Given the description of an element on the screen output the (x, y) to click on. 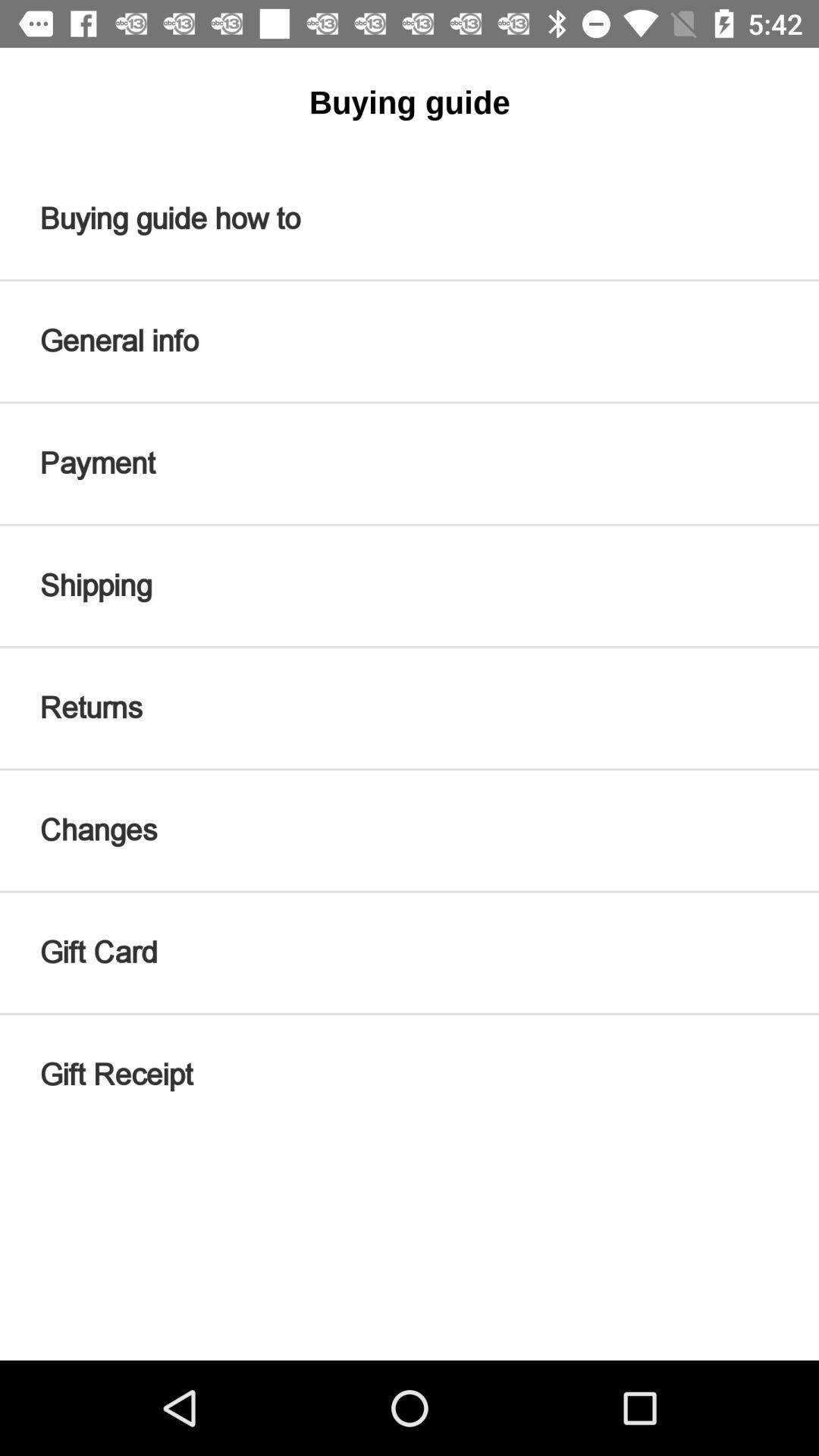
choose icon below returns item (409, 830)
